Given the description of an element on the screen output the (x, y) to click on. 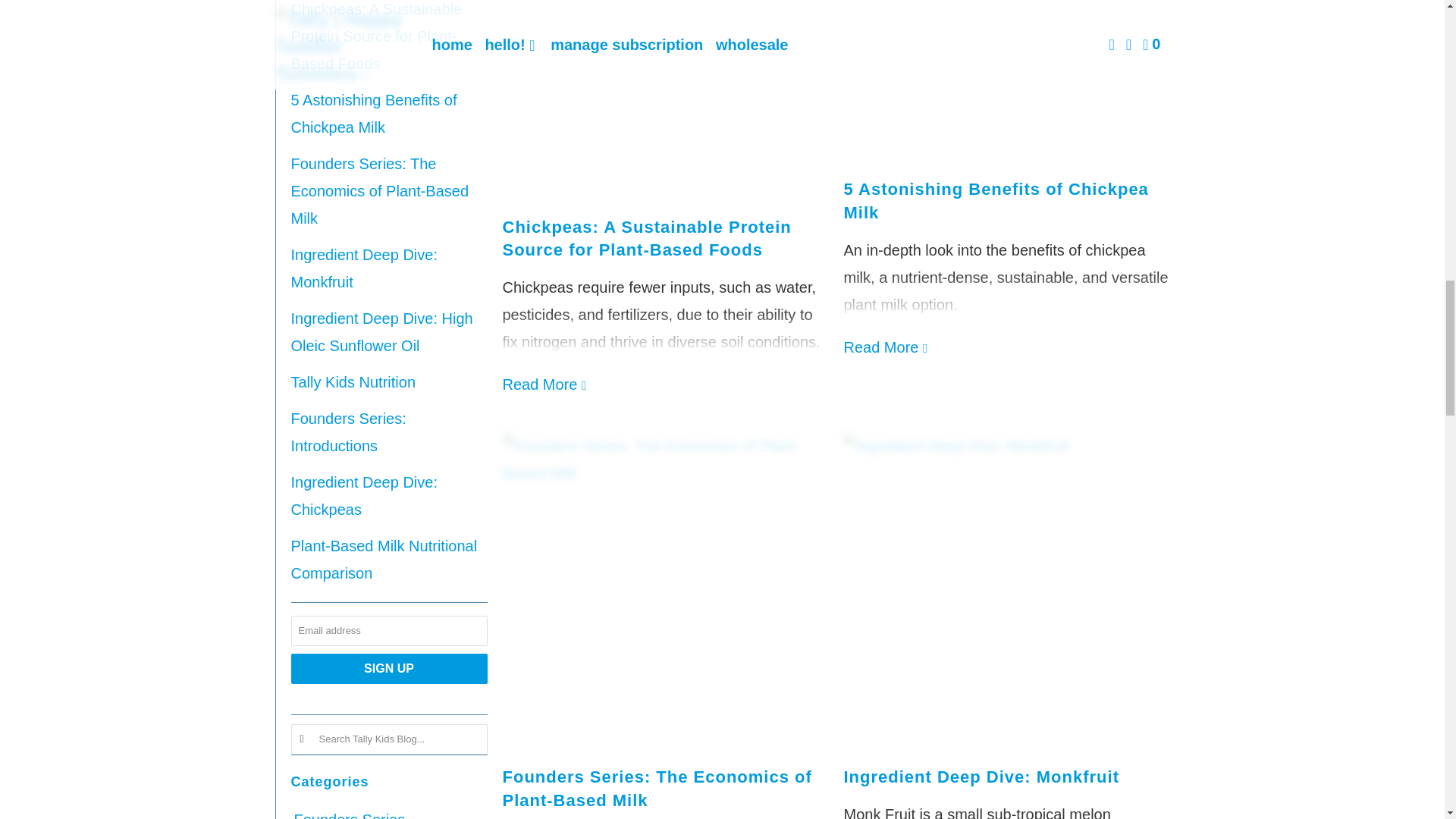
Tally Kids Nutrition (353, 381)
5 Astonishing Benefits of Chickpea Milk (374, 113)
Founders Series: The Economics of Plant-Based Milk (379, 190)
Ingredient Deep Dive: Monkfruit (364, 268)
Founders Series: Introductions (348, 432)
Founders Series: Introductions (348, 432)
Sign Up (389, 668)
Founders Series: The Economics of Plant-Based Milk (379, 190)
Ingredient Deep Dive: High Oleic Sunflower Oil (382, 331)
Tally Kids Nutrition (353, 381)
5 Astonishing Benefits of Chickpea Milk (374, 113)
Ingredient Deep Dive: Monkfruit (364, 268)
Plant-Based Milk Nutritional Comparison (384, 559)
